Given the description of an element on the screen output the (x, y) to click on. 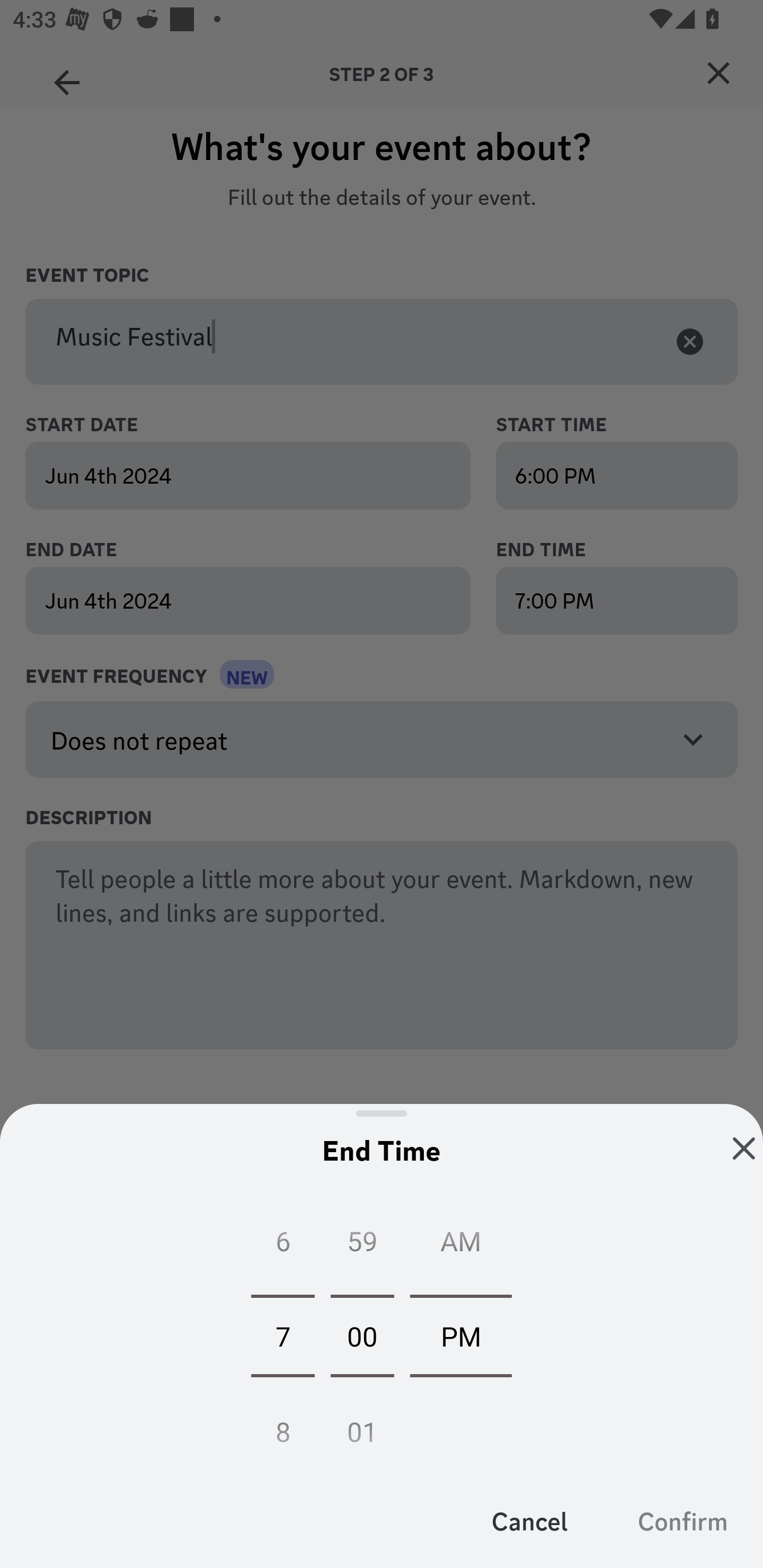
Close (743, 1148)
 6  (282, 1245)
59 (362, 1245)
 AM  (460, 1245)
 7  (282, 1335)
00 (362, 1335)
 PM  (460, 1335)
 8  (282, 1425)
01 (362, 1425)
Cancel (529, 1520)
Confirm (682, 1520)
